Given the description of an element on the screen output the (x, y) to click on. 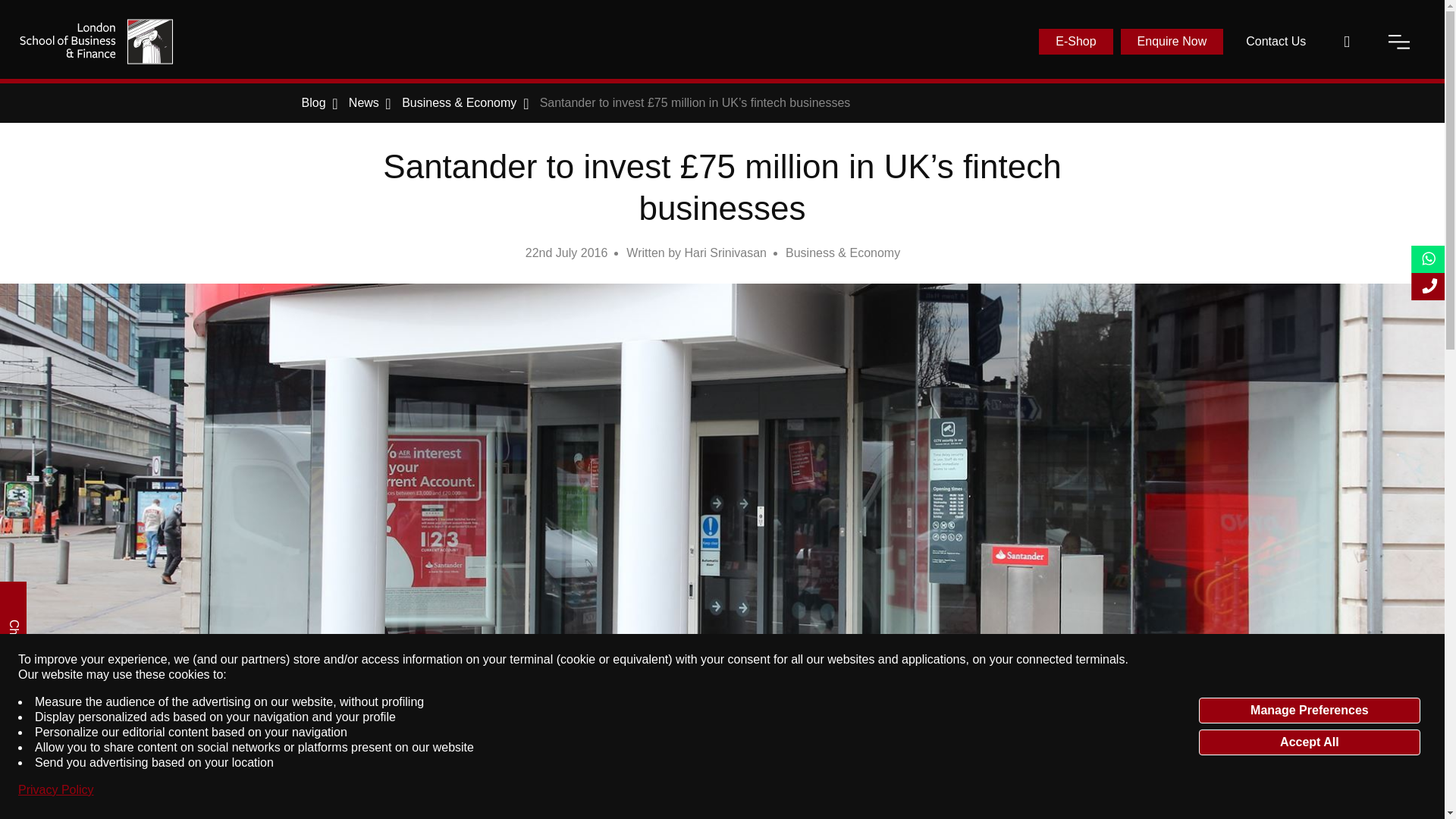
Hari Srinivasan (725, 252)
Privacy Policy (55, 789)
Hari Srinivasan (725, 252)
E-Shop (1075, 41)
Enquire Now (1172, 41)
Contact Us (1275, 41)
Accept All (1309, 742)
Manage Preferences (1309, 710)
